Given the description of an element on the screen output the (x, y) to click on. 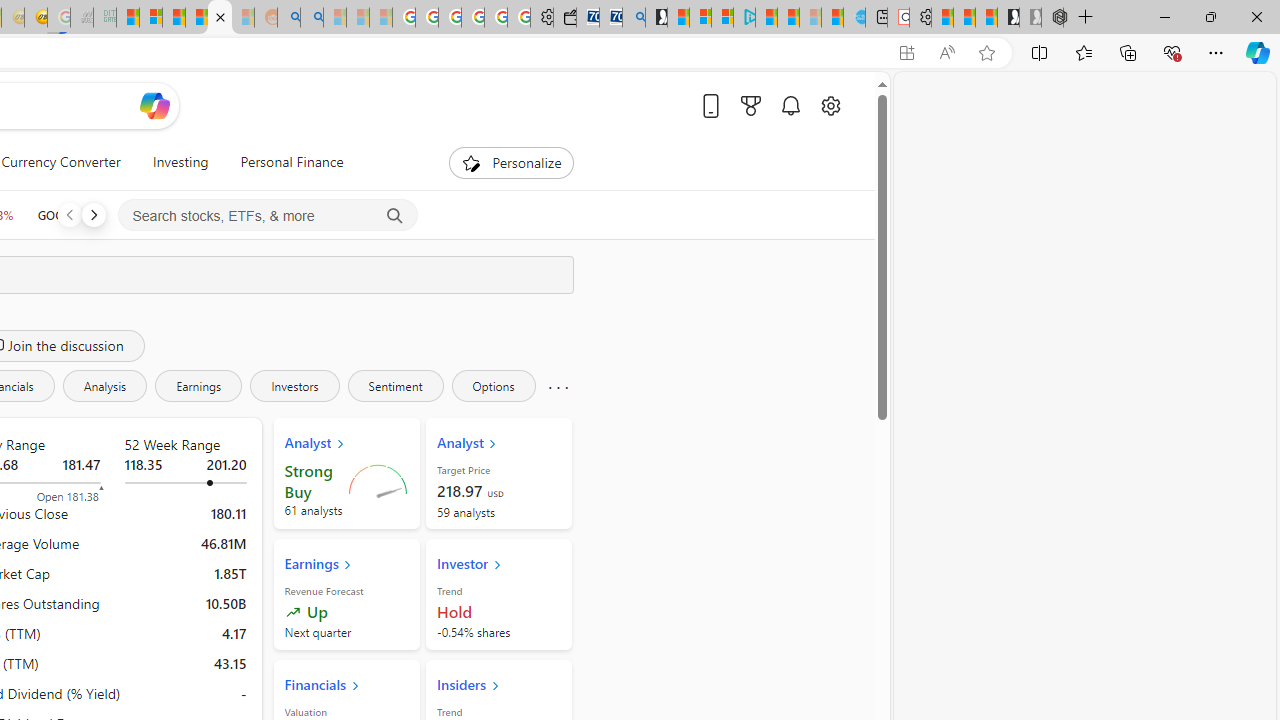
Investing (180, 162)
Investors (294, 385)
